Given the description of an element on the screen output the (x, y) to click on. 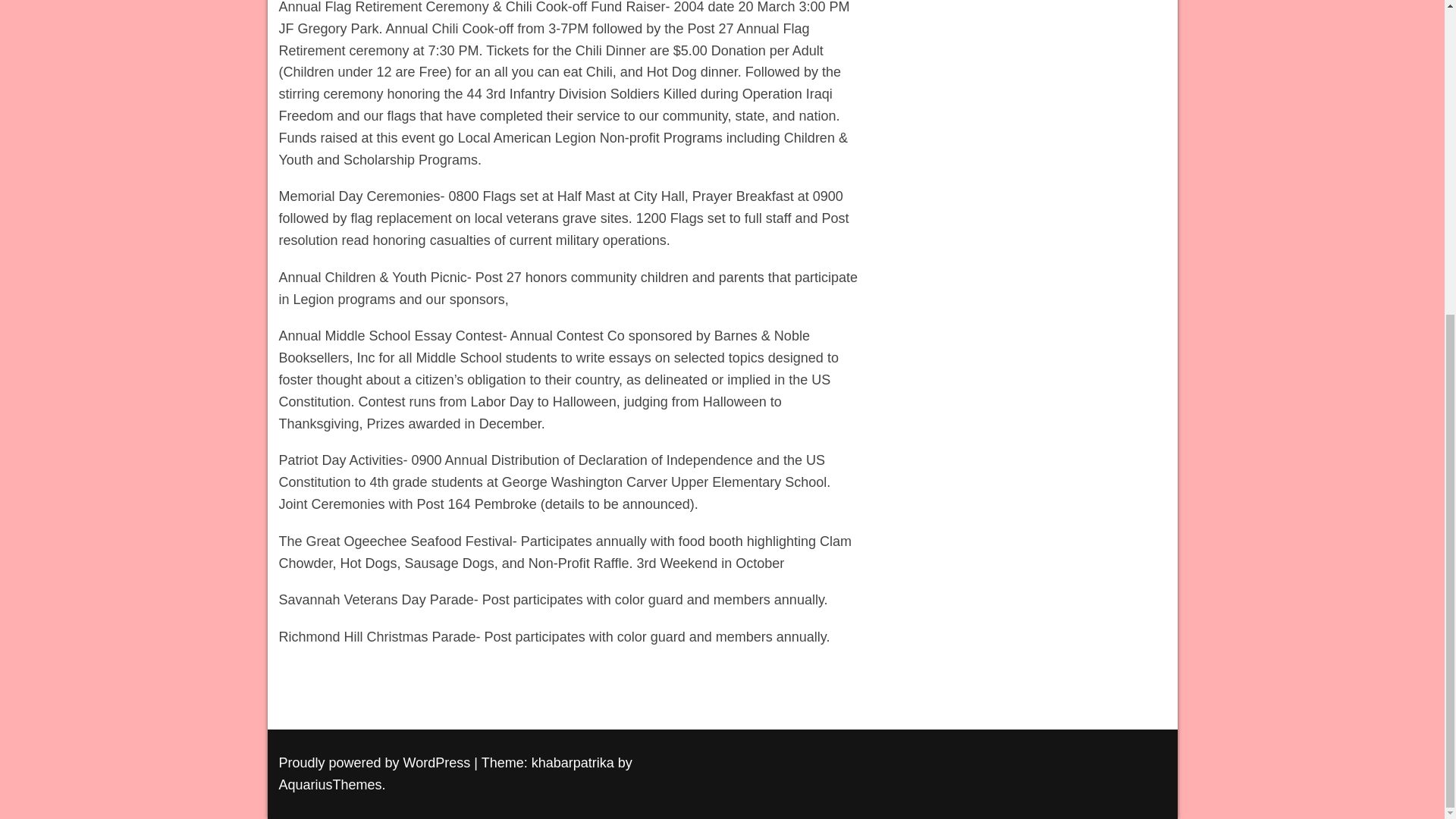
AquariusThemes (330, 784)
Proudly powered by WordPress (376, 762)
